Given the description of an element on the screen output the (x, y) to click on. 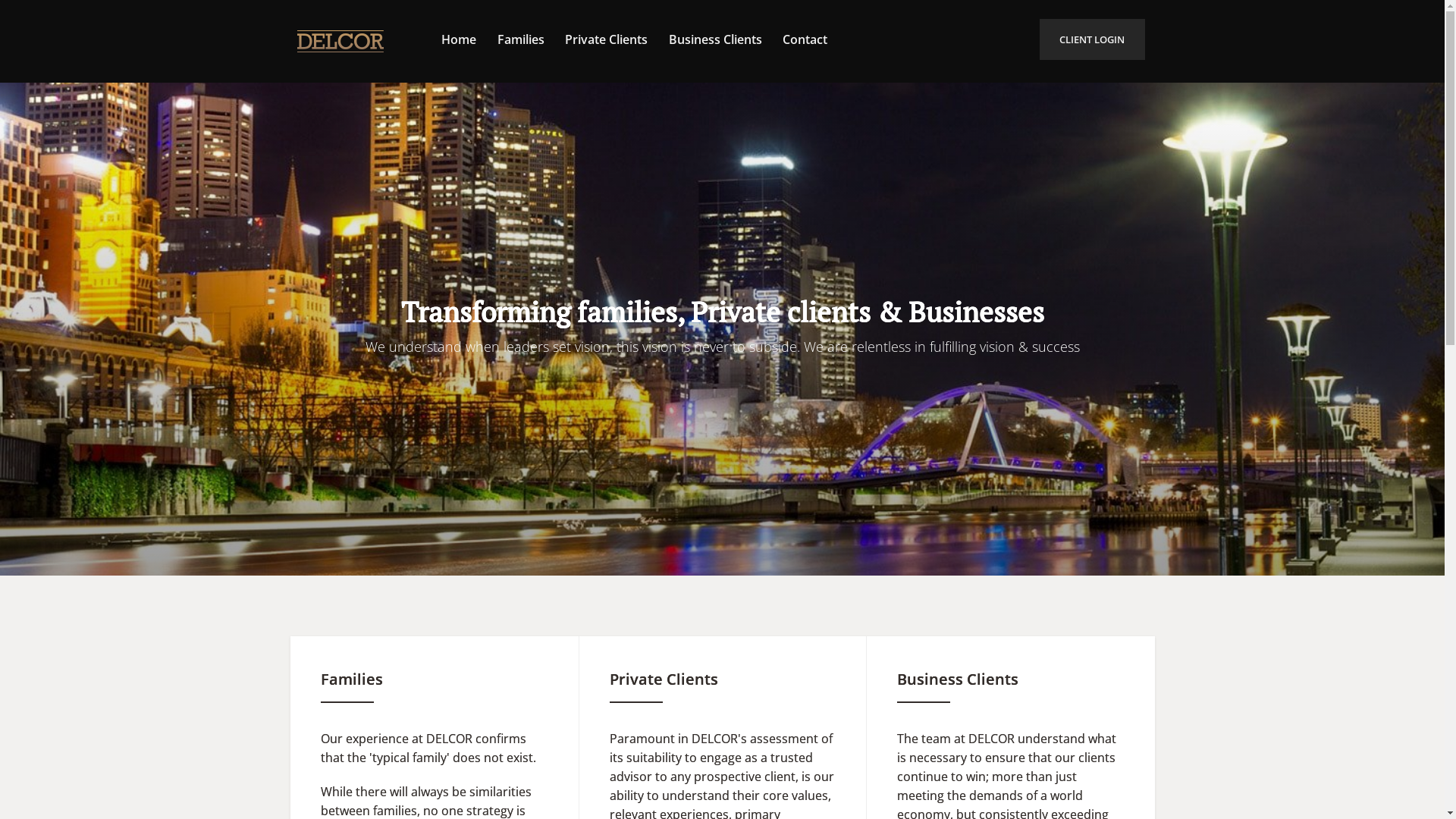
Business Clients Element type: text (715, 39)
Private Clients Element type: text (605, 39)
Contact Element type: text (804, 39)
Families Element type: text (520, 39)
Home Element type: text (458, 39)
CLIENT LOGIN Element type: text (1092, 38)
